Given the description of an element on the screen output the (x, y) to click on. 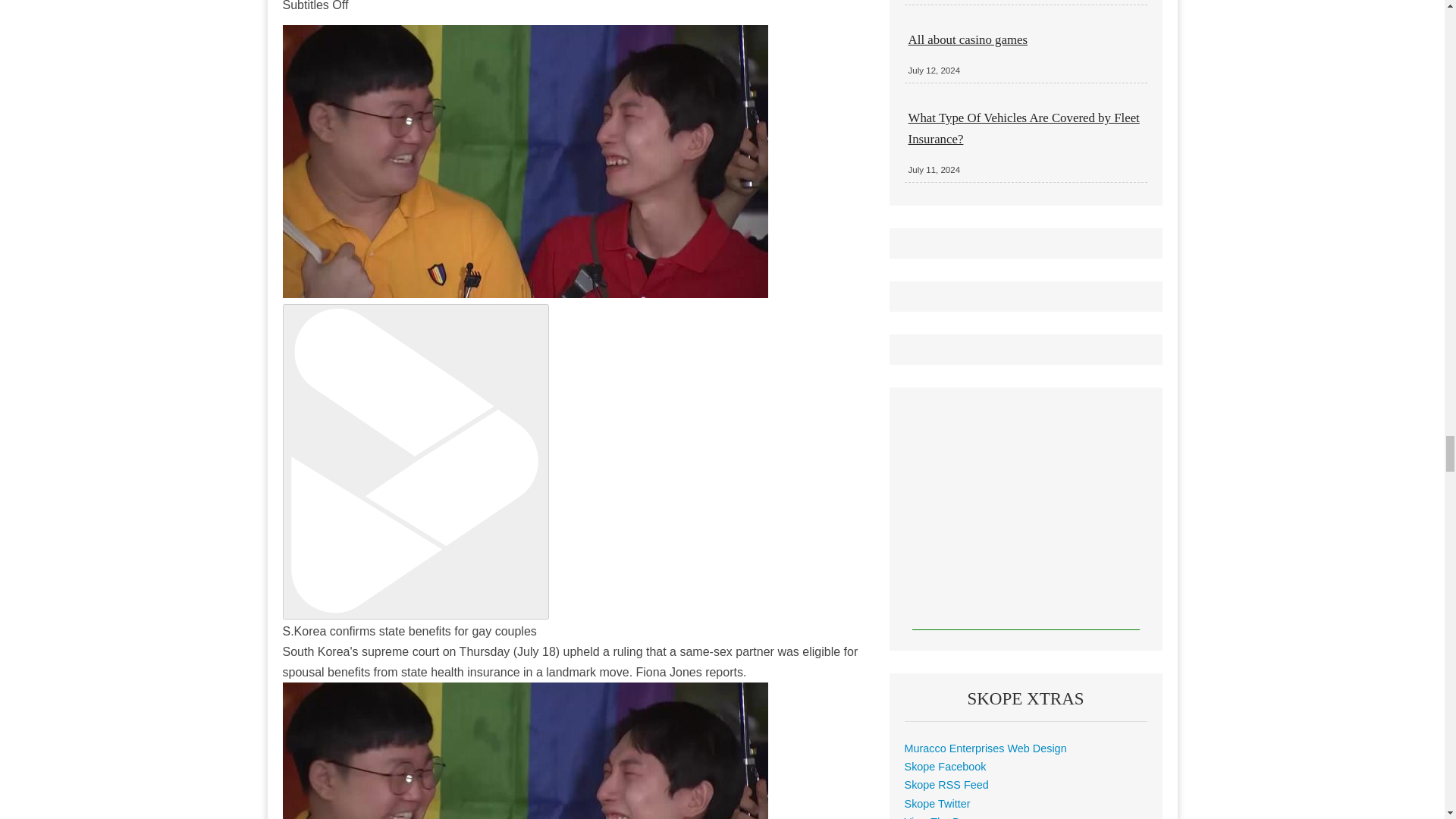
Skopemag.com RSS Feed (946, 784)
